Given the description of an element on the screen output the (x, y) to click on. 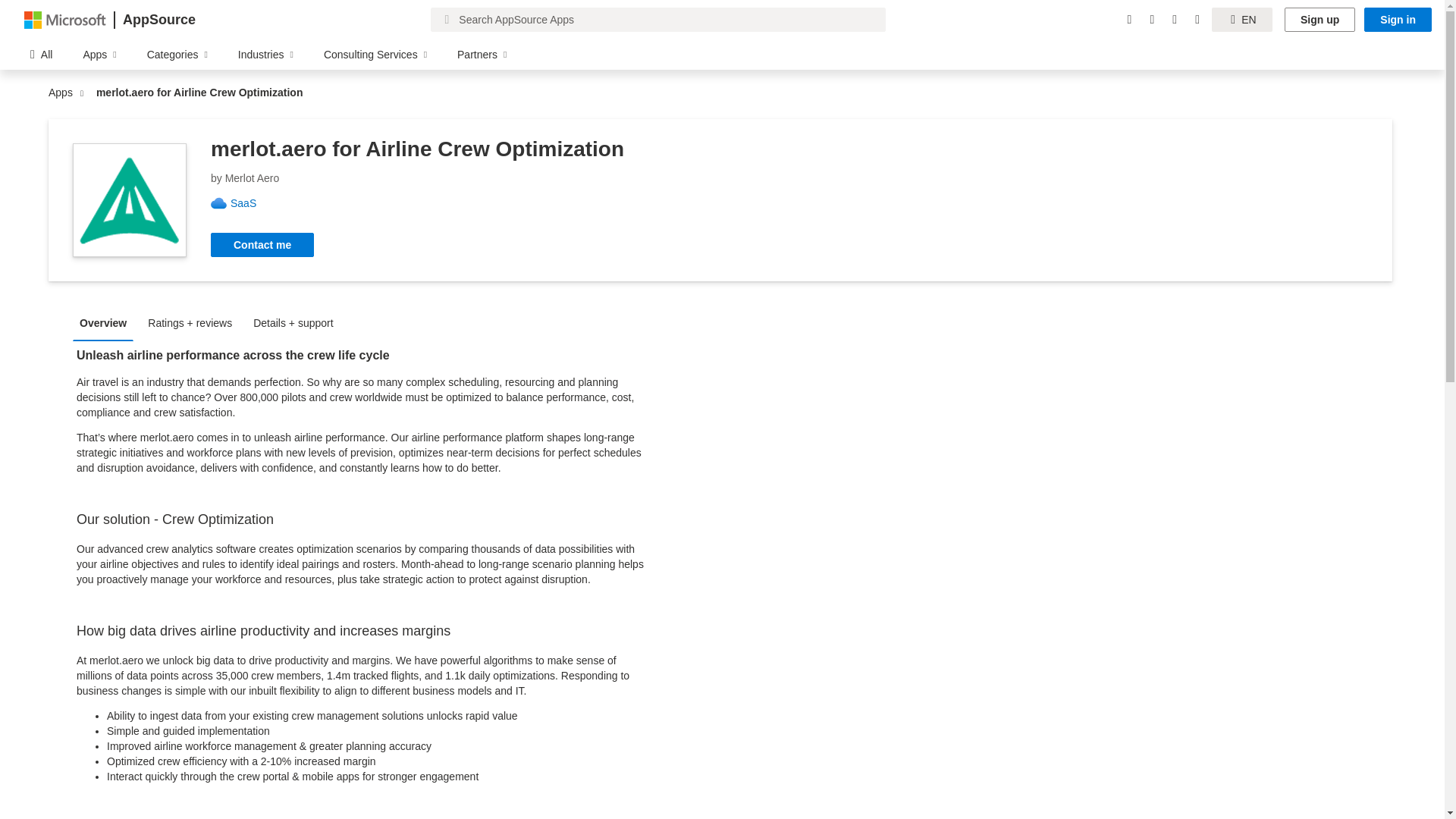
AppSource (158, 19)
Overview (106, 322)
SaaS (248, 203)
Contact me (262, 244)
Sign in (1397, 19)
SaaS (248, 203)
Microsoft (65, 18)
Sign up (1319, 19)
Apps (64, 92)
